Given the description of an element on the screen output the (x, y) to click on. 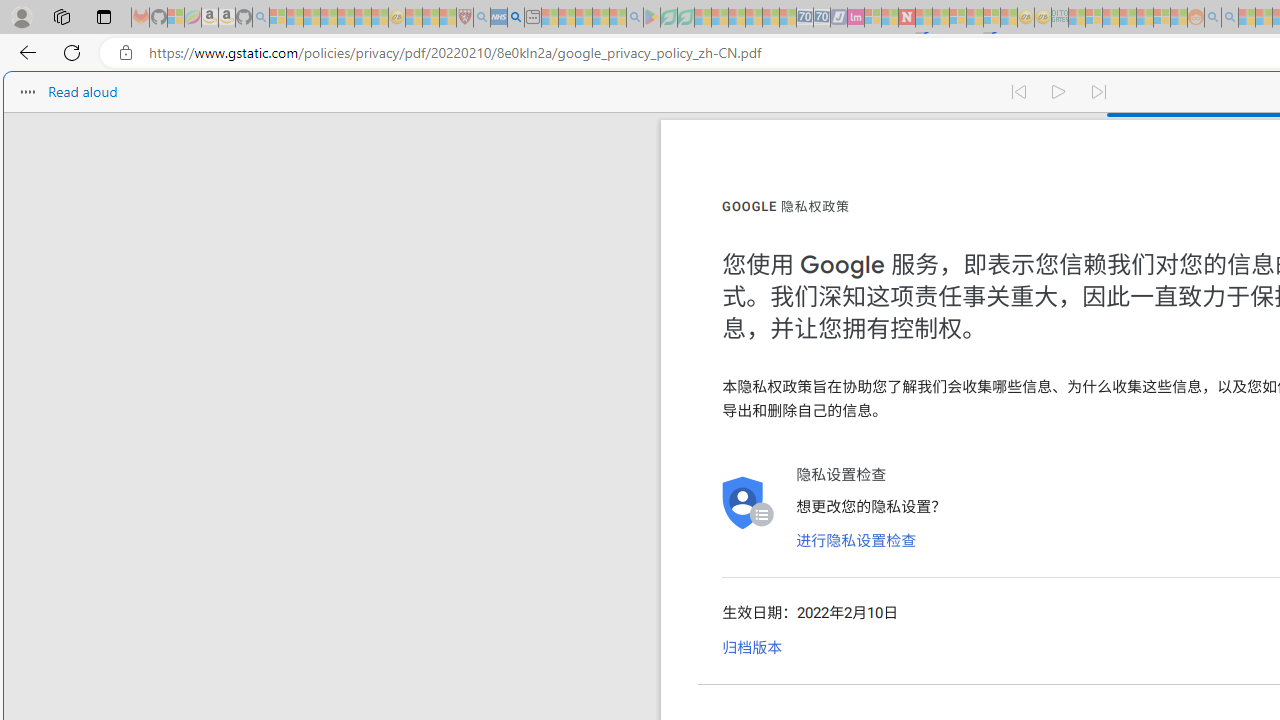
Expert Portfolios - Sleeping (1128, 17)
Jobs - lastminute.com Investor Portal - Sleeping (855, 17)
